Given the description of an element on the screen output the (x, y) to click on. 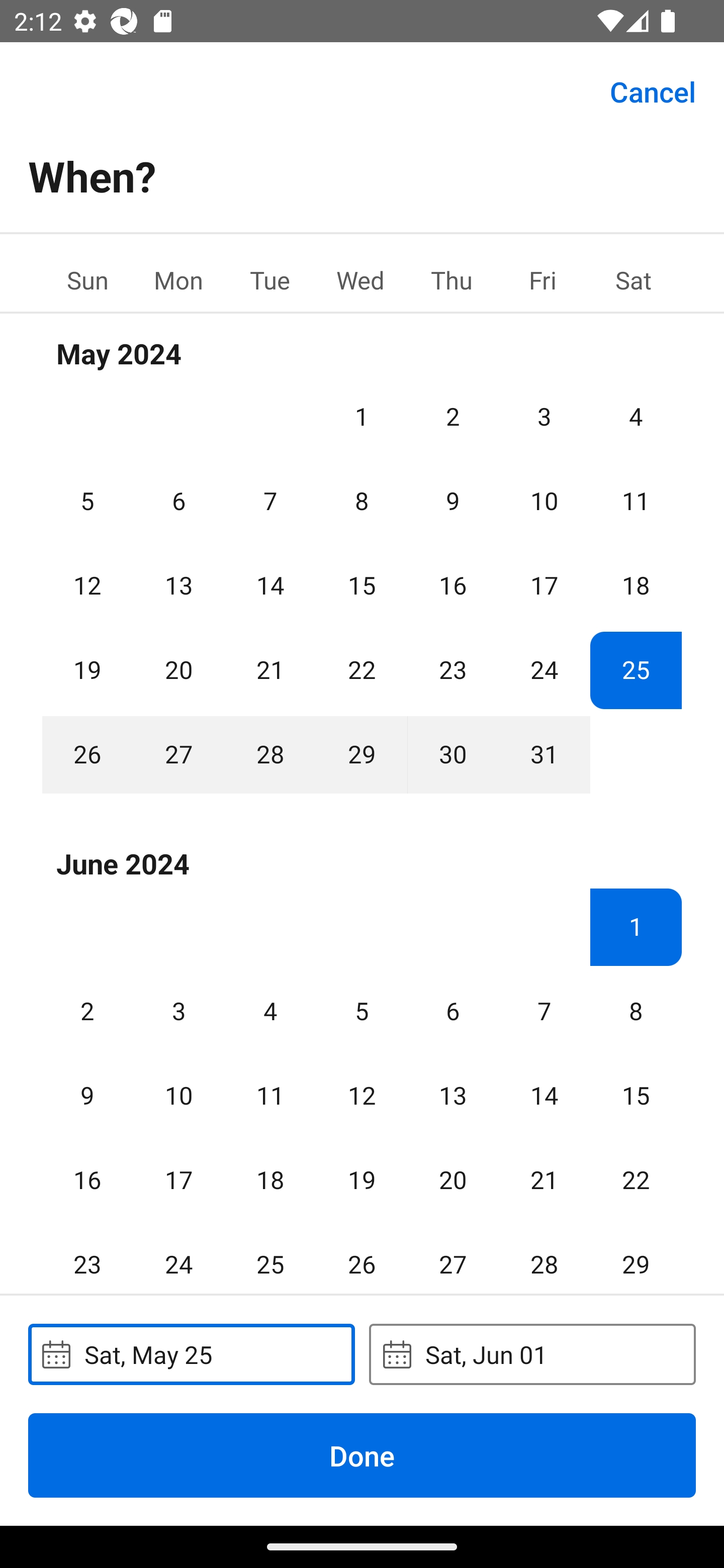
Cancel (652, 90)
Sat, May 25 (191, 1353)
Sat, Jun 01 (532, 1353)
Done (361, 1454)
